Given the description of an element on the screen output the (x, y) to click on. 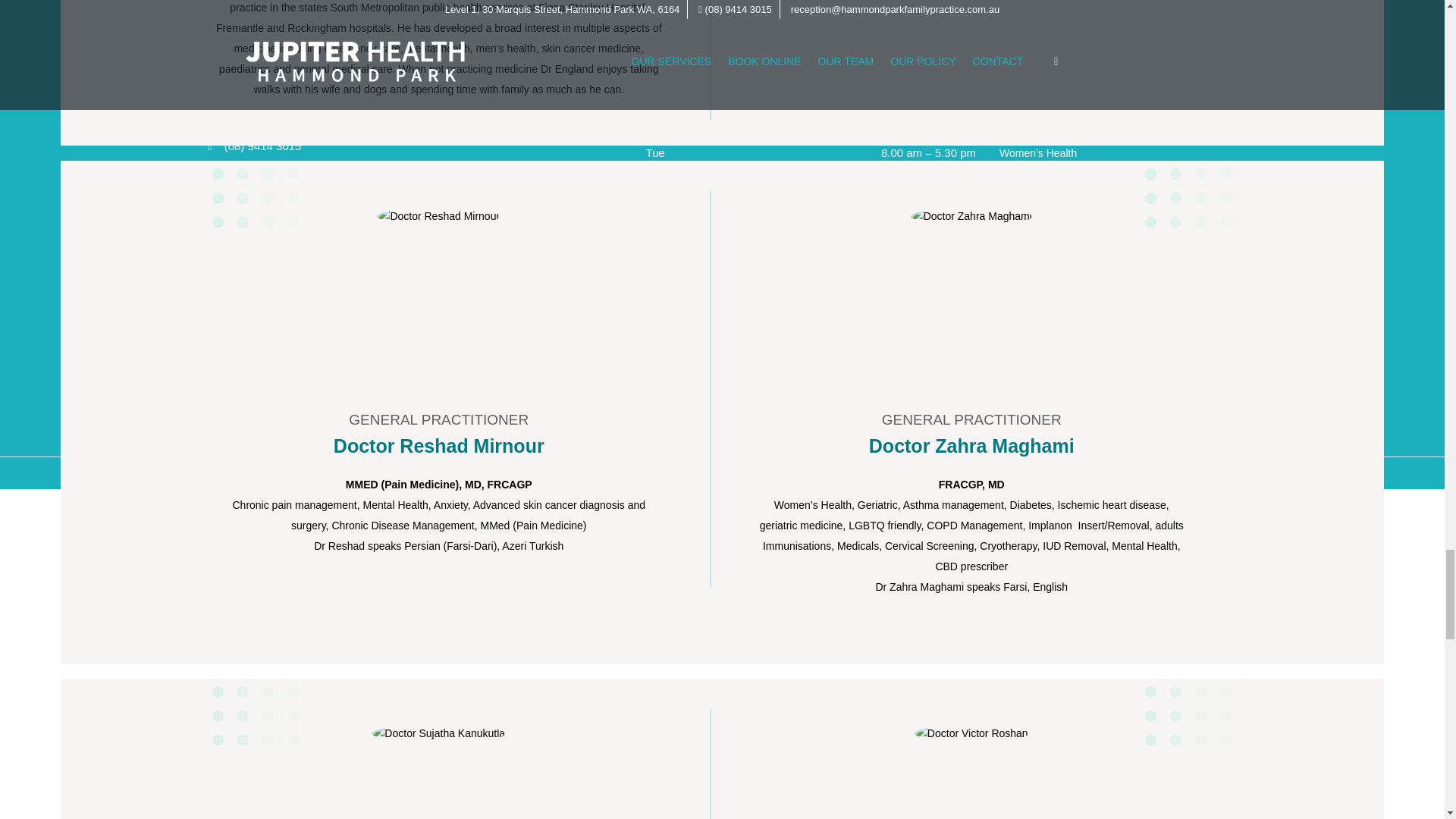
Iron Infusions (1030, 247)
BOOK ONLINE (754, 393)
Pre-employment and driving medicals (1087, 304)
CBD Oil (1018, 285)
Mirena Insert and Removal (1062, 266)
Children's Health (1039, 191)
Skin Cancer Checks (1047, 114)
Mental Health (1031, 228)
Chronic Disease Management (1069, 209)
Skin Cancer Removal (1050, 133)
